Given the description of an element on the screen output the (x, y) to click on. 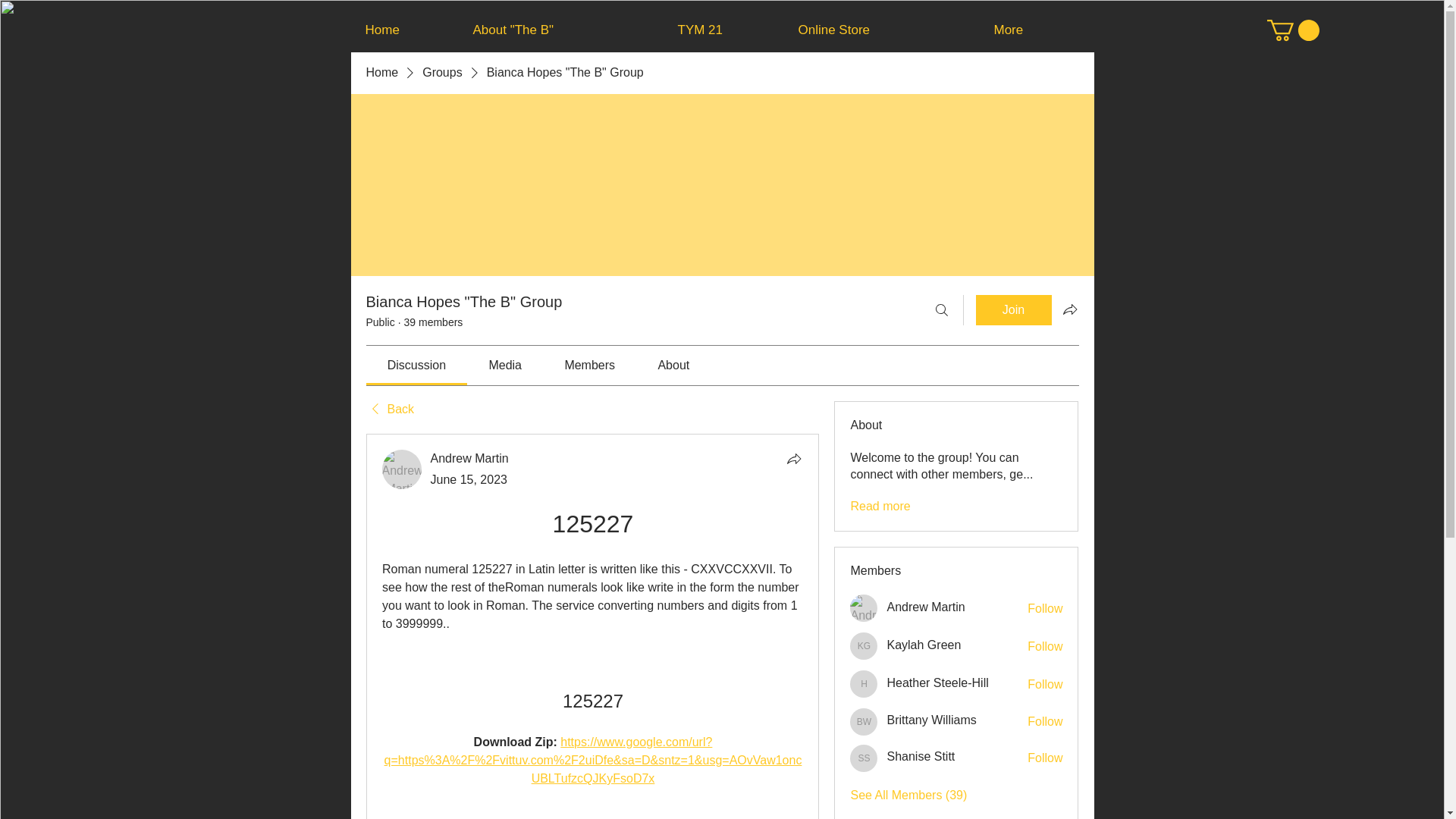
Andrew Martin (924, 606)
Follow (1044, 646)
Heather Steele-Hill  (937, 682)
Join (1013, 309)
Shanise Stitt (863, 758)
Read more (880, 506)
Follow (1044, 608)
Brittany Williams (930, 719)
Brittany Williams (863, 721)
Follow (1044, 721)
